Given the description of an element on the screen output the (x, y) to click on. 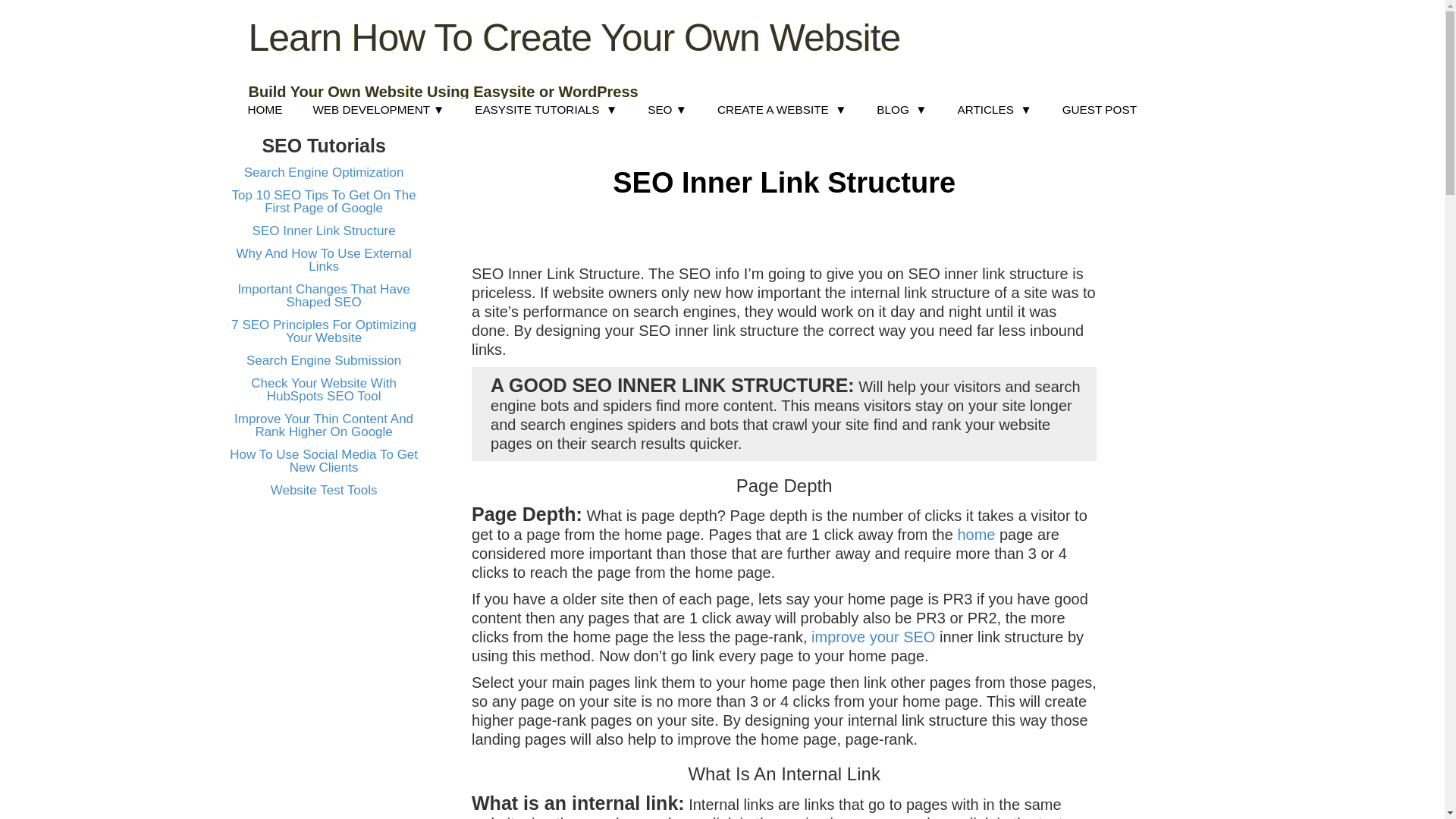
View this entry (323, 461)
HOME (264, 107)
EASYSITE TUTORIALS  (545, 107)
View this entry (323, 490)
View this entry (323, 359)
View this entry (323, 230)
SEO (666, 107)
View this entry (323, 424)
View this entry (324, 172)
View this entry (323, 389)
WEB DEVELOPMENT (378, 107)
View this entry (323, 201)
View this entry (323, 295)
